Given the description of an element on the screen output the (x, y) to click on. 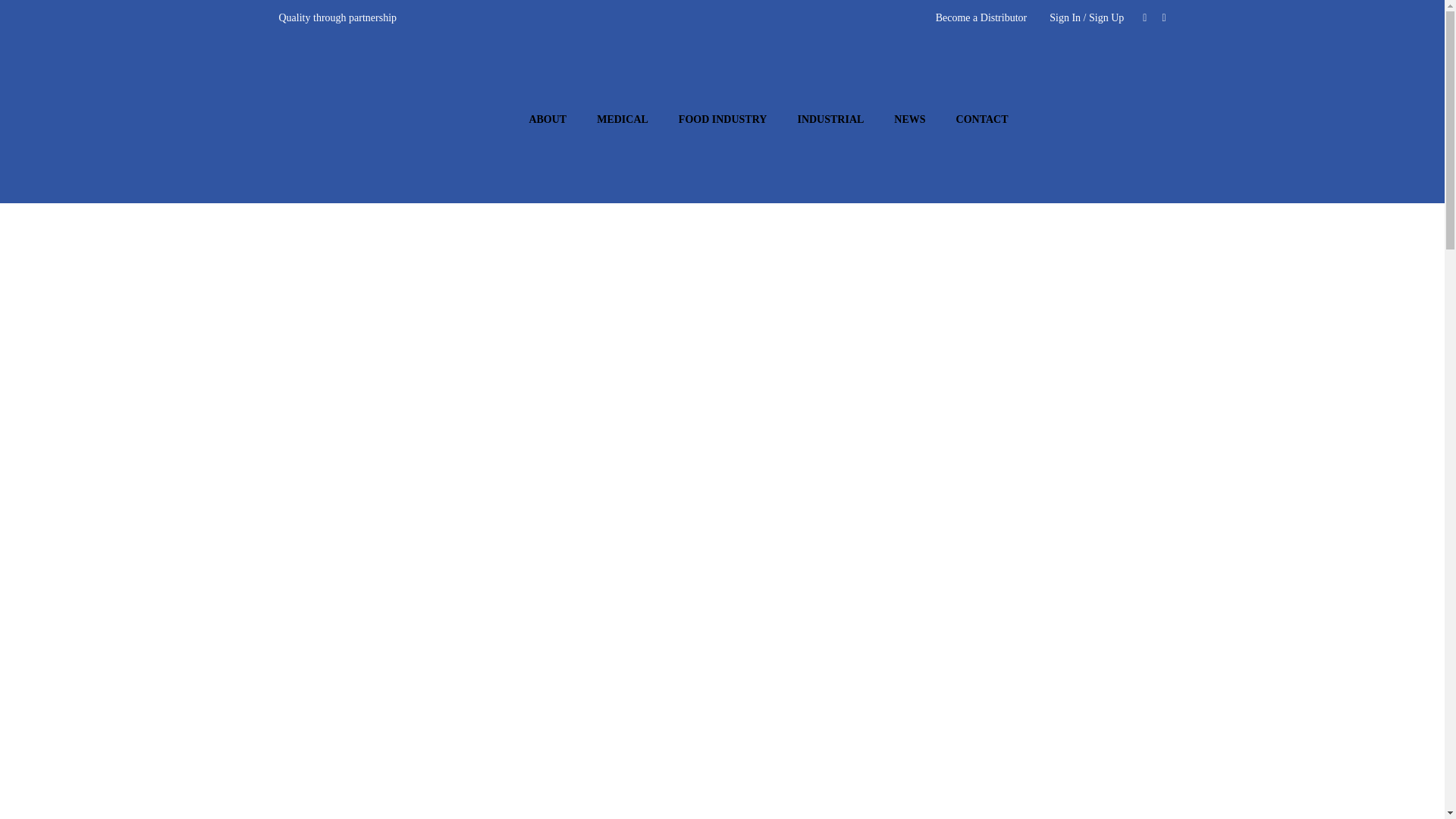
Amity International (362, 117)
NEWS (909, 119)
CONTACT (981, 119)
INDUSTRIAL (830, 119)
MEDICAL (621, 119)
FOOD INDUSTRY (723, 119)
ABOUT (546, 119)
Become a Distributor (981, 18)
Amity International (362, 119)
